Given the description of an element on the screen output the (x, y) to click on. 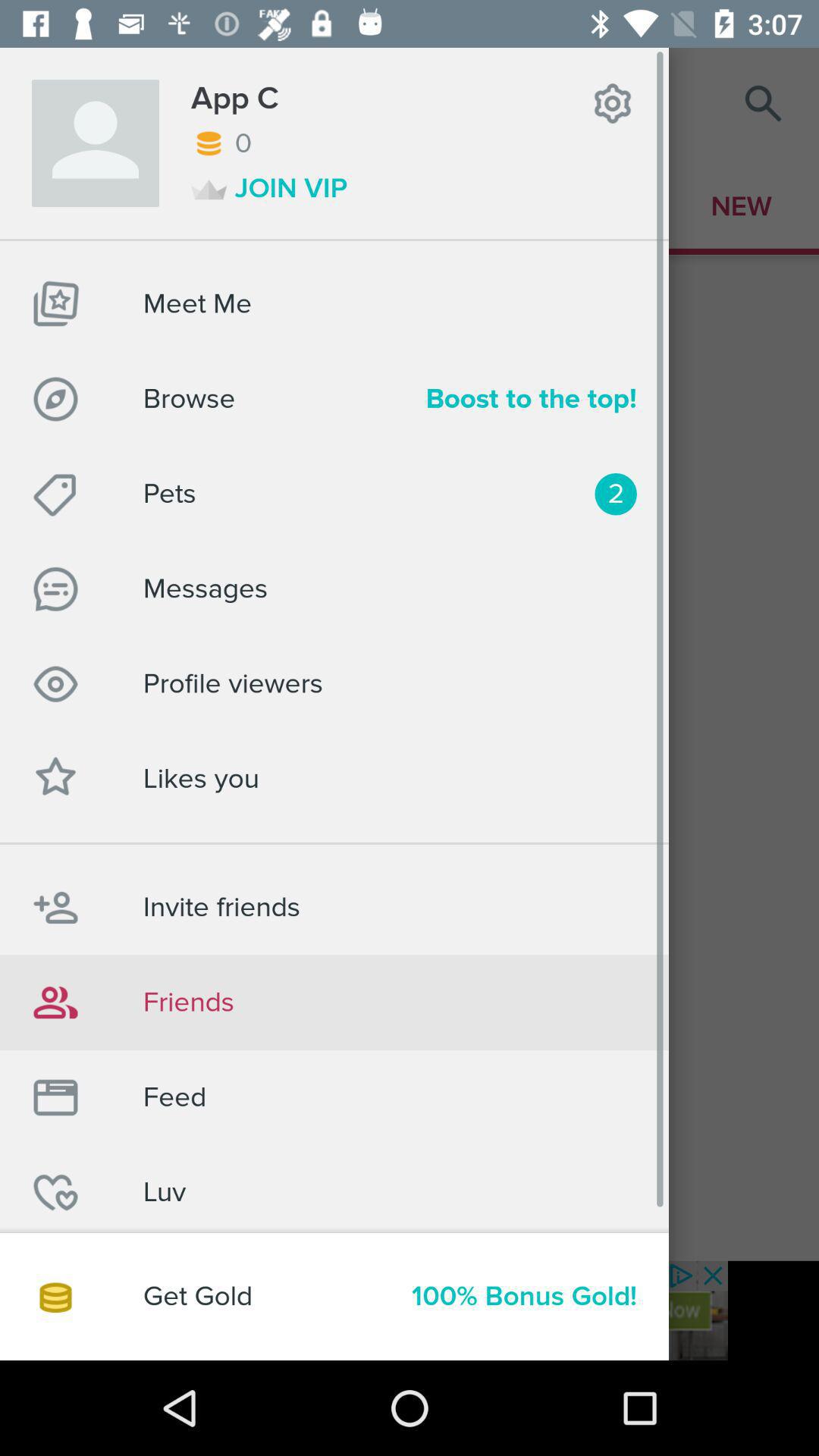
select the text below search icon at the top right corner of the page (741, 206)
